Given the description of an element on the screen output the (x, y) to click on. 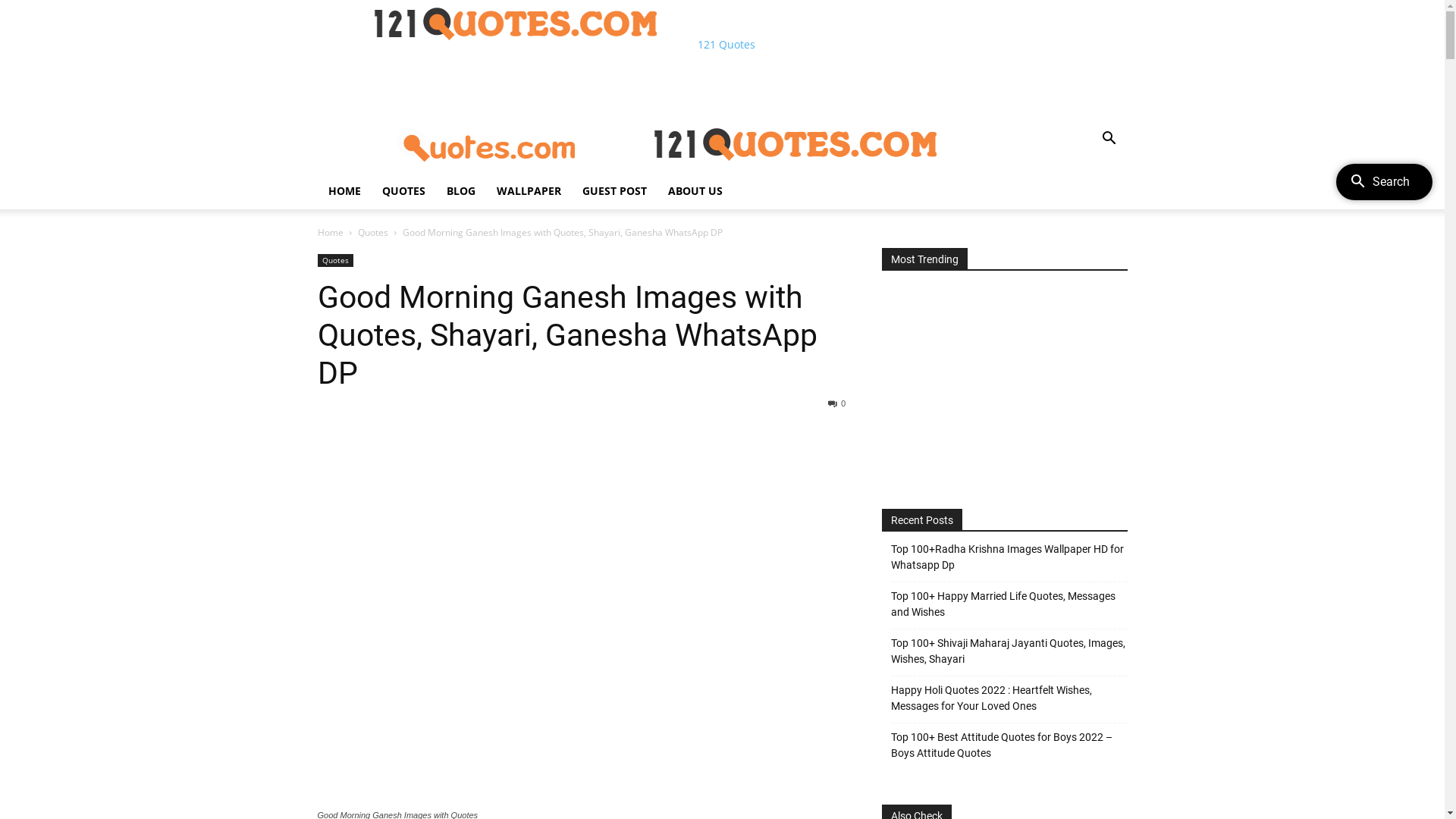
Advertisement Element type: hover (592, 86)
WALLPAPER Element type: text (528, 190)
Search Element type: text (1085, 199)
Top 100+Radha Krishna Images Wallpaper HD for Whatsapp Dp Element type: text (1008, 557)
BLOG Element type: text (460, 190)
HOME Element type: text (343, 190)
QUOTES Element type: text (403, 190)
Home Element type: text (329, 231)
Top 100+ Happy Married Life Quotes, Messages and Wishes Element type: text (1008, 604)
0 Element type: text (836, 402)
Quotes Element type: text (334, 260)
Quotes Element type: text (372, 231)
ABOUT US Element type: text (694, 190)
GUEST POST Element type: text (614, 190)
Advertisement Element type: hover (1003, 385)
121 Quotes Element type: text (544, 44)
